Given the description of an element on the screen output the (x, y) to click on. 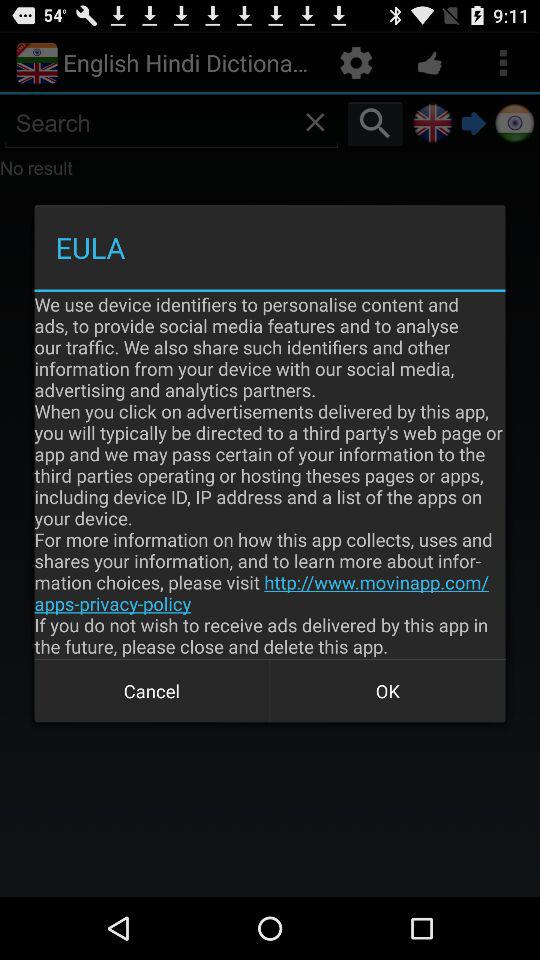
jump to ok icon (387, 690)
